Given the description of an element on the screen output the (x, y) to click on. 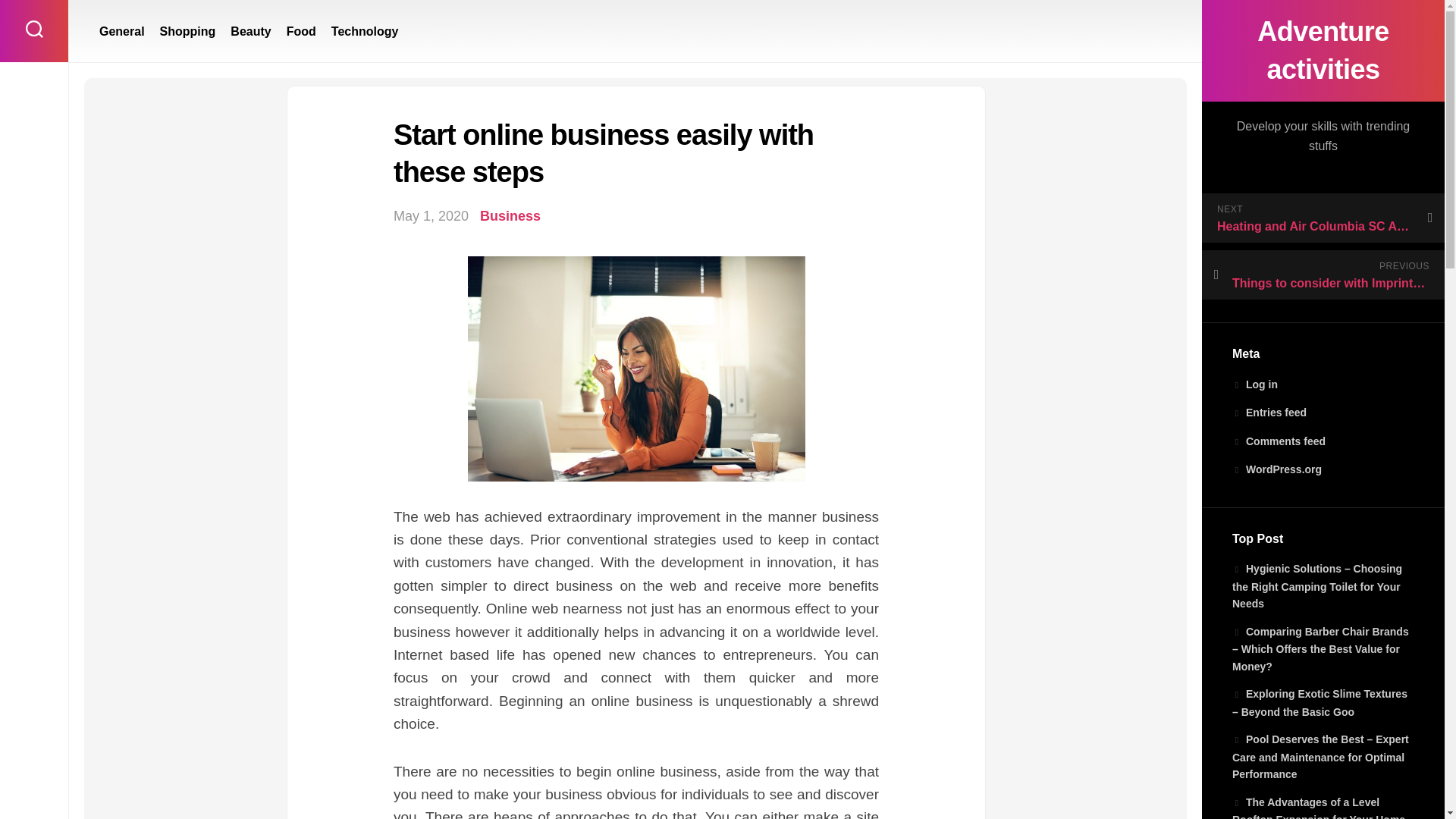
Adventure activities (1322, 50)
Entries feed (1268, 412)
Log in (1254, 384)
WordPress.org (1276, 469)
Comments feed (1277, 440)
The Advantages of a Level Rooftop Expansion for Your Home (1318, 807)
